Given the description of an element on the screen output the (x, y) to click on. 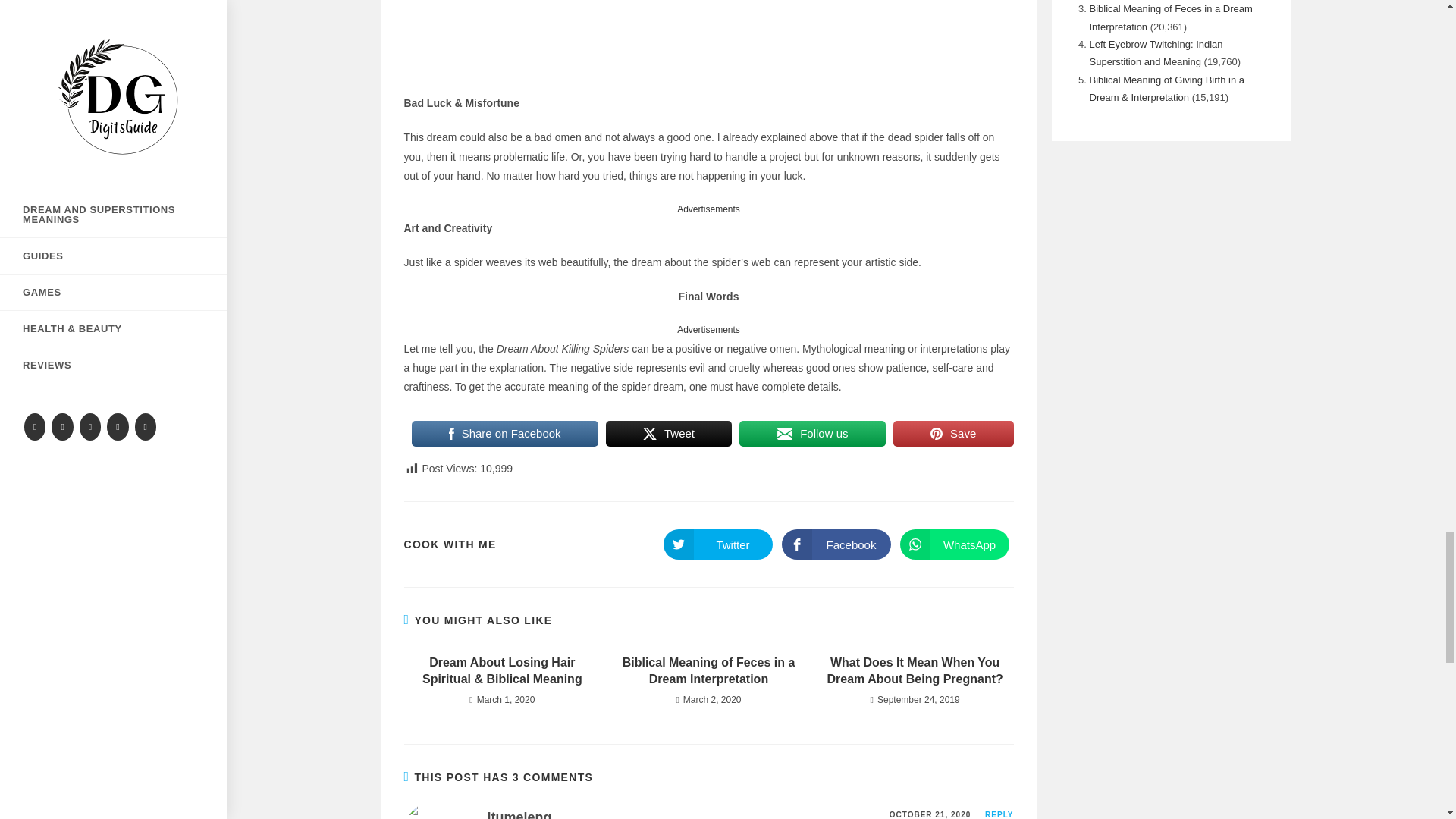
Follow us (812, 433)
Share on Facebook (503, 433)
Tweet (668, 433)
